Given the description of an element on the screen output the (x, y) to click on. 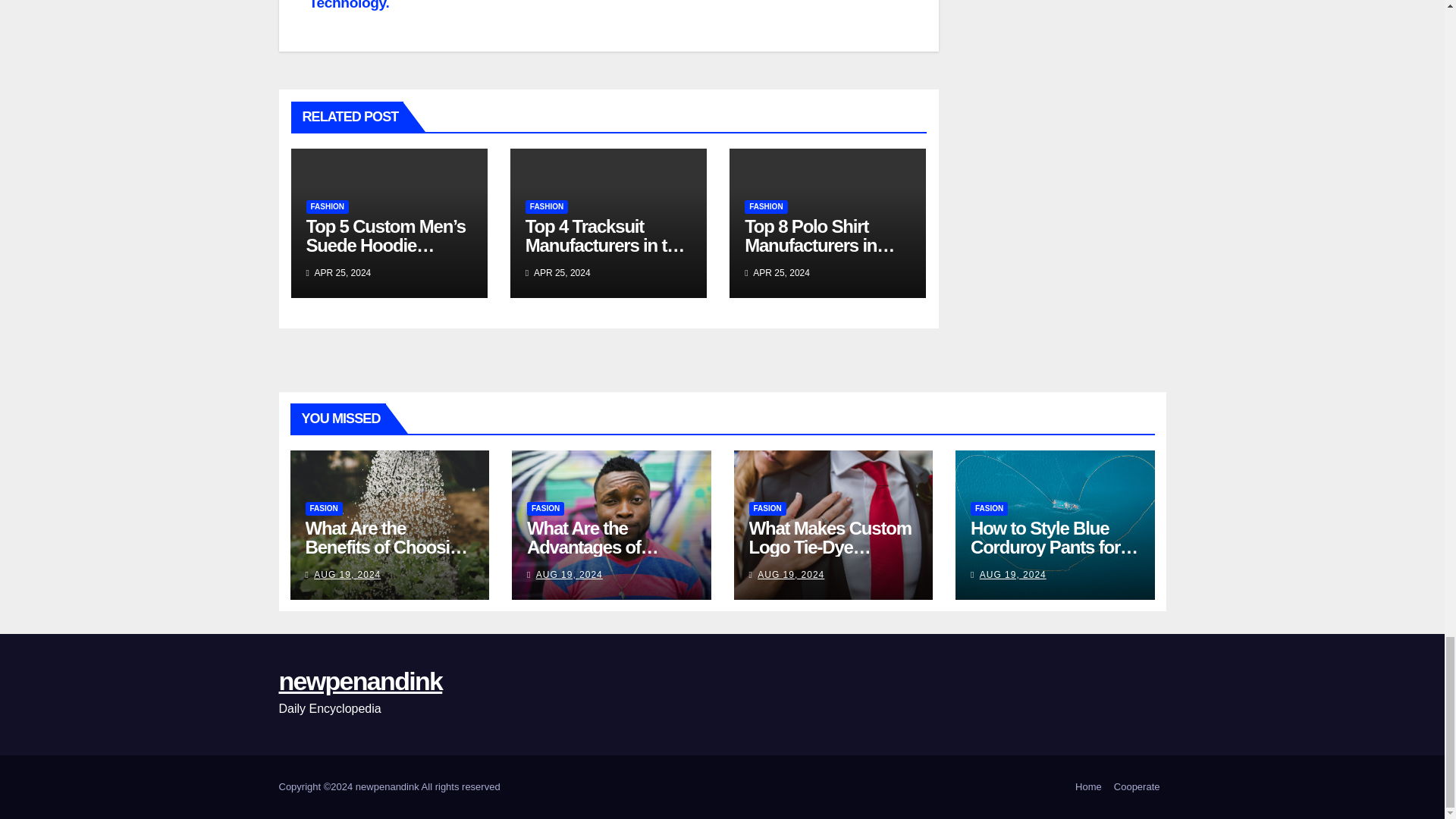
Permalink to: Top 8 Polo Shirt Manufacturers in South Africa (819, 245)
FASHION (765, 206)
FASHION (327, 206)
Top 8 Polo Shirt Manufacturers in South Africa (819, 245)
Top 4 Tracksuit Manufacturers in the United Kingdom (605, 245)
FASHION (546, 206)
